Given the description of an element on the screen output the (x, y) to click on. 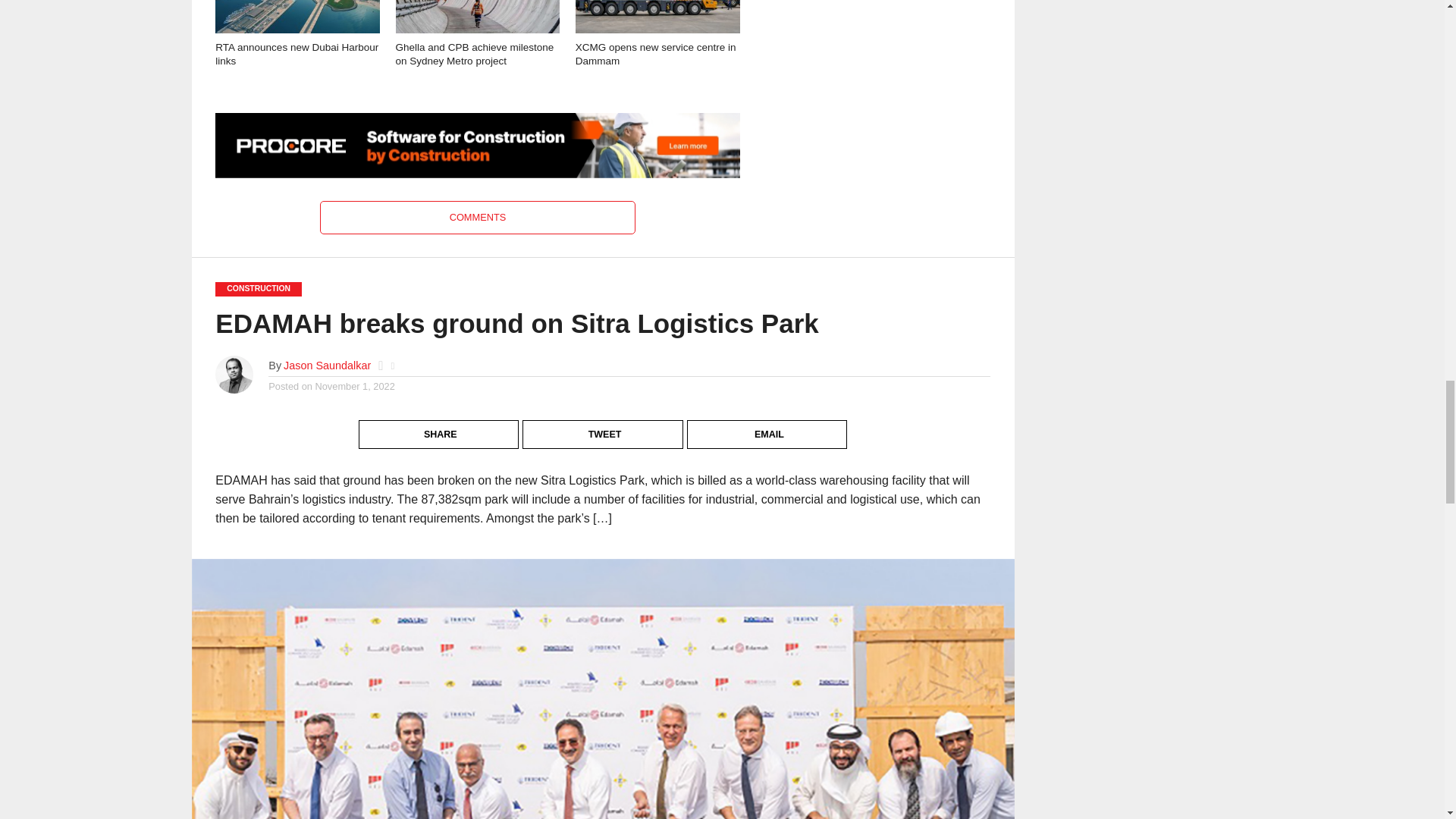
RTA announces new Dubai Harbour links (297, 29)
